Given the description of an element on the screen output the (x, y) to click on. 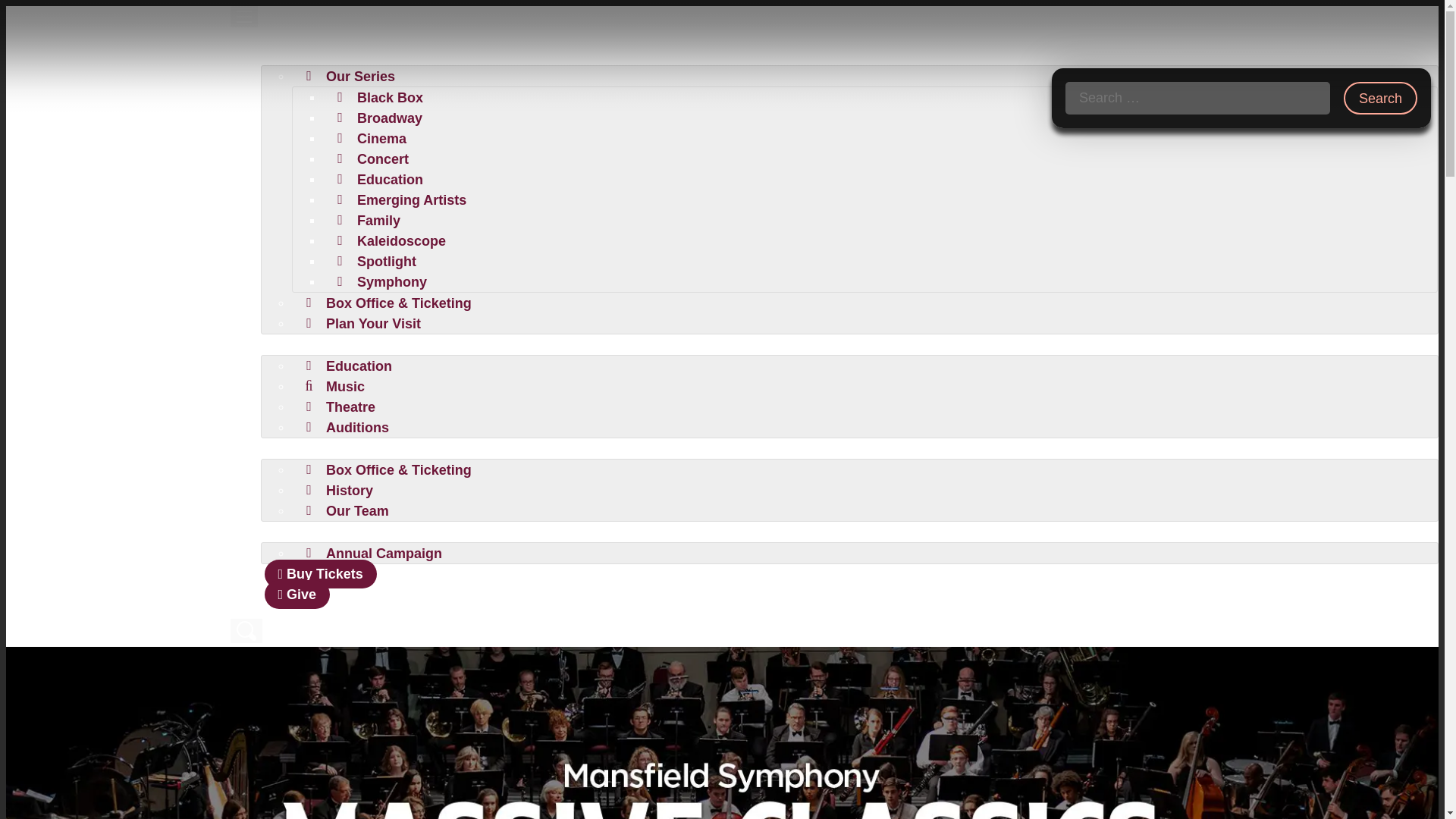
About (298, 448)
Search (1379, 97)
Symphony (382, 280)
Black Box (379, 97)
Theatre (340, 406)
Events (301, 54)
Concert (372, 157)
Search (1379, 97)
Our Series (350, 75)
Education (349, 365)
Music (335, 385)
Broadway (379, 116)
Auditions (347, 426)
Plan Your Visit (362, 323)
